Given the description of an element on the screen output the (x, y) to click on. 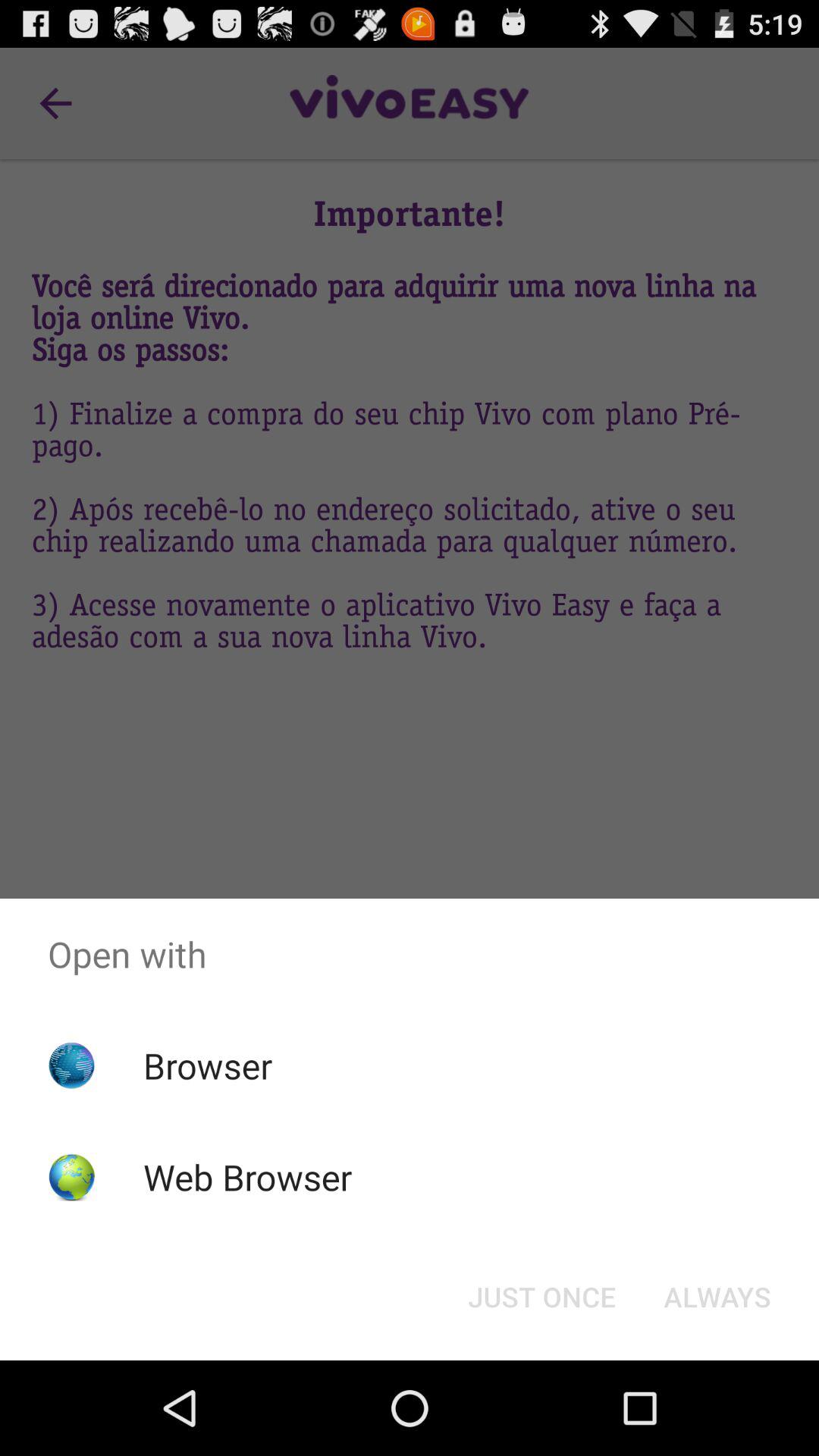
launch the always item (717, 1296)
